Given the description of an element on the screen output the (x, y) to click on. 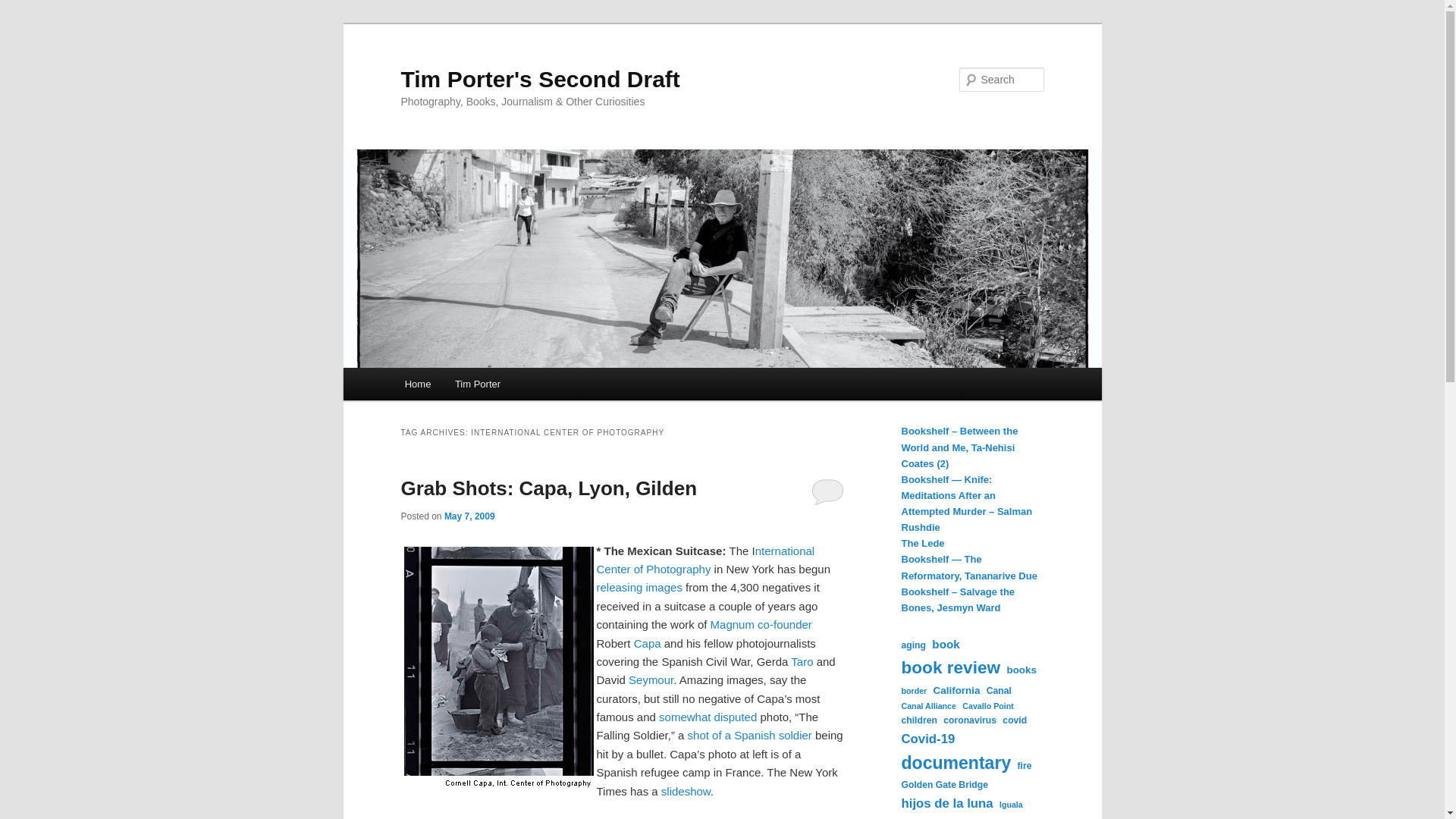
Search (24, 8)
Capa (648, 643)
nternational Center of Photography (704, 559)
7:53 am (469, 516)
aging (913, 645)
Tim Porter's Second Draft (539, 78)
May 7, 2009 (469, 516)
releasing images (638, 586)
shot of a Spanish soldier (749, 735)
